Given the description of an element on the screen output the (x, y) to click on. 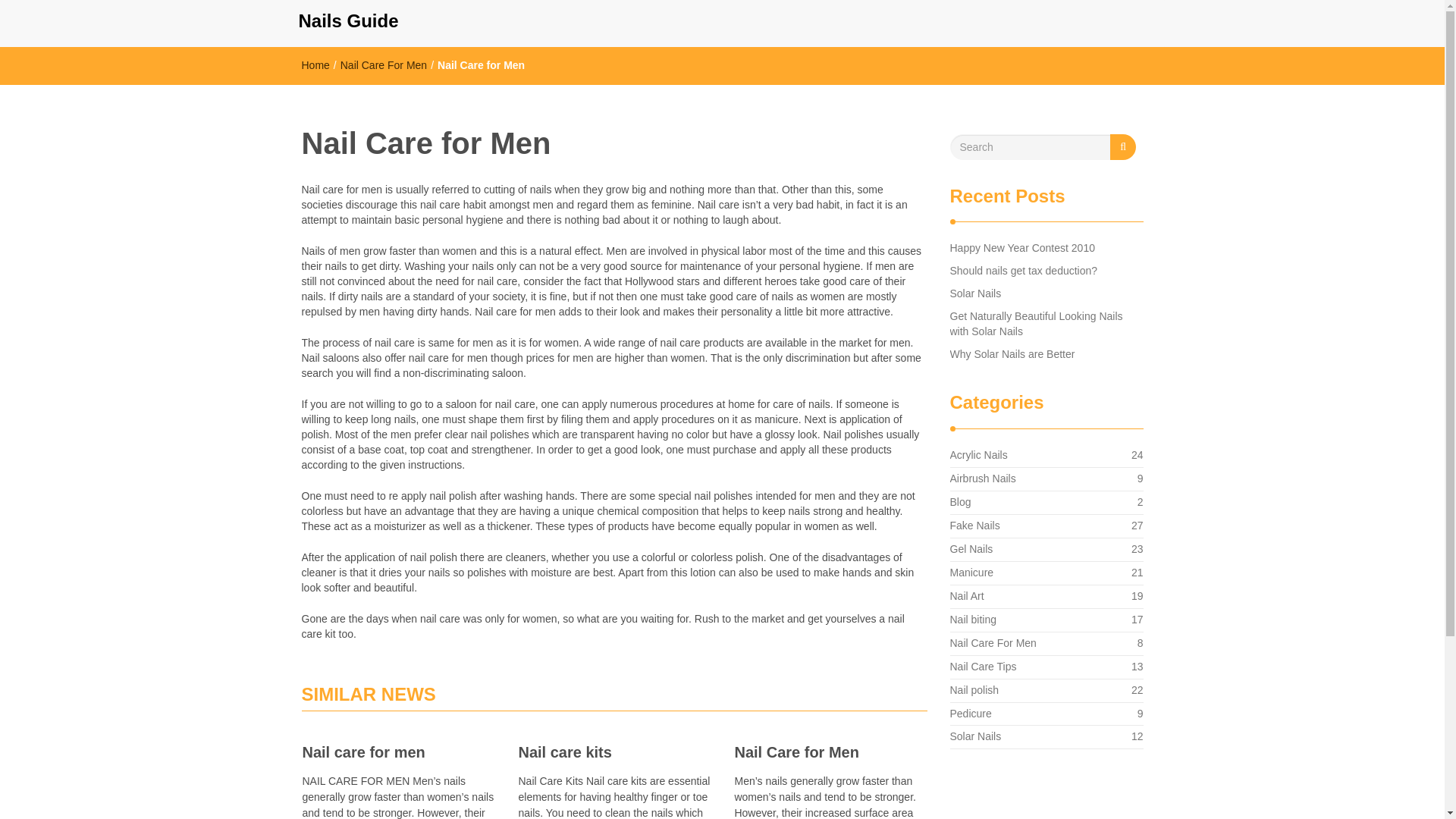
Home (315, 64)
Nail Care for Men (970, 548)
Nail Care For Men (972, 619)
Home (829, 751)
Solar Nails (970, 572)
Should nails get tax deduction? (383, 64)
Nail care for men (982, 666)
Nail care kits (315, 64)
